Given the description of an element on the screen output the (x, y) to click on. 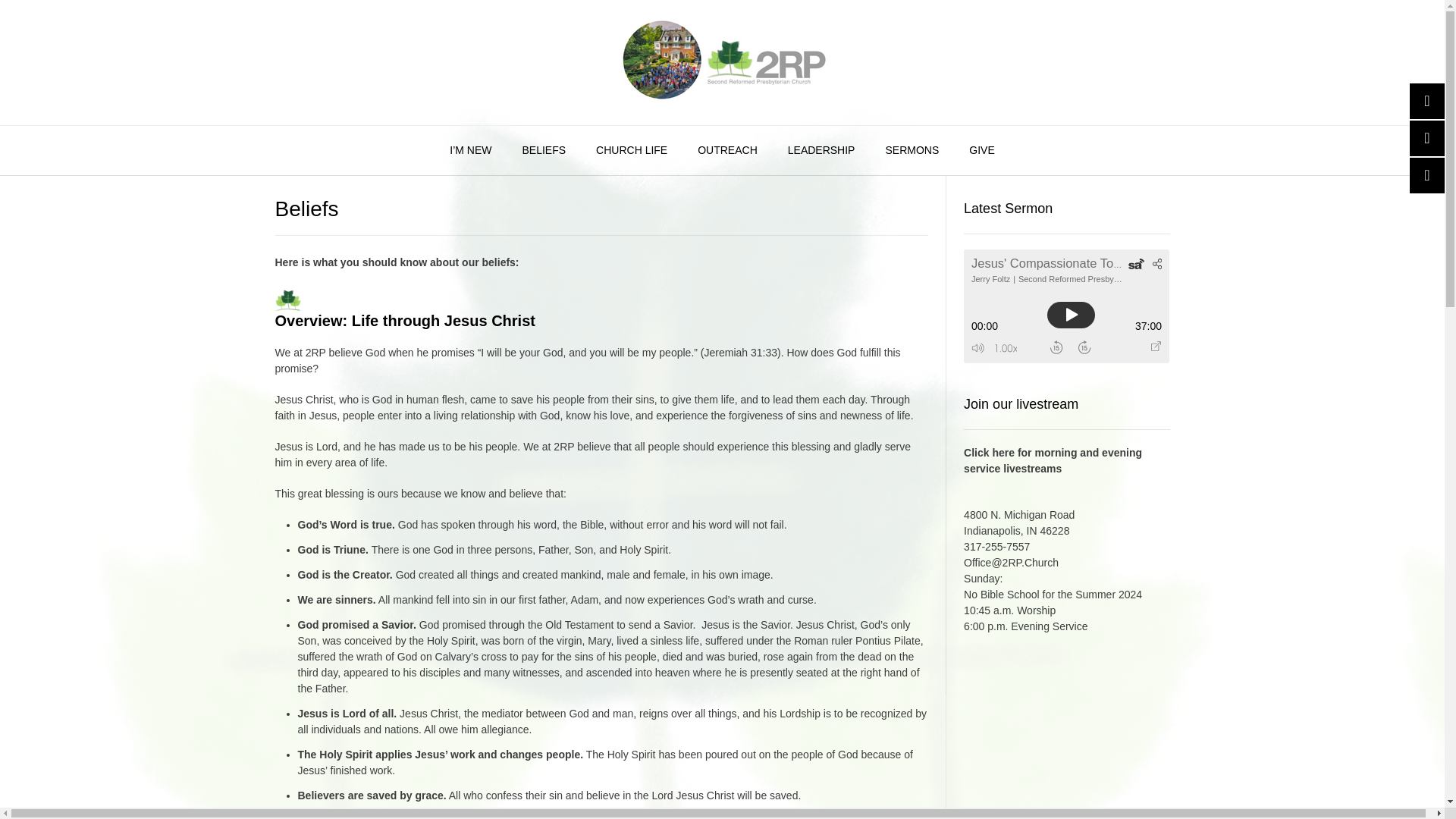
OUTREACH (727, 151)
SERMONS (911, 151)
LEADERSHIP (821, 151)
CHURCH LIFE (631, 151)
Click here for morning and evening service livestreams (1052, 460)
Find Us on Facebook (1428, 138)
BELIEFS (543, 151)
Send Us an Email (1018, 522)
GIVE (1428, 100)
2RP (981, 151)
Follow Us on Twitter (722, 62)
